Given the description of an element on the screen output the (x, y) to click on. 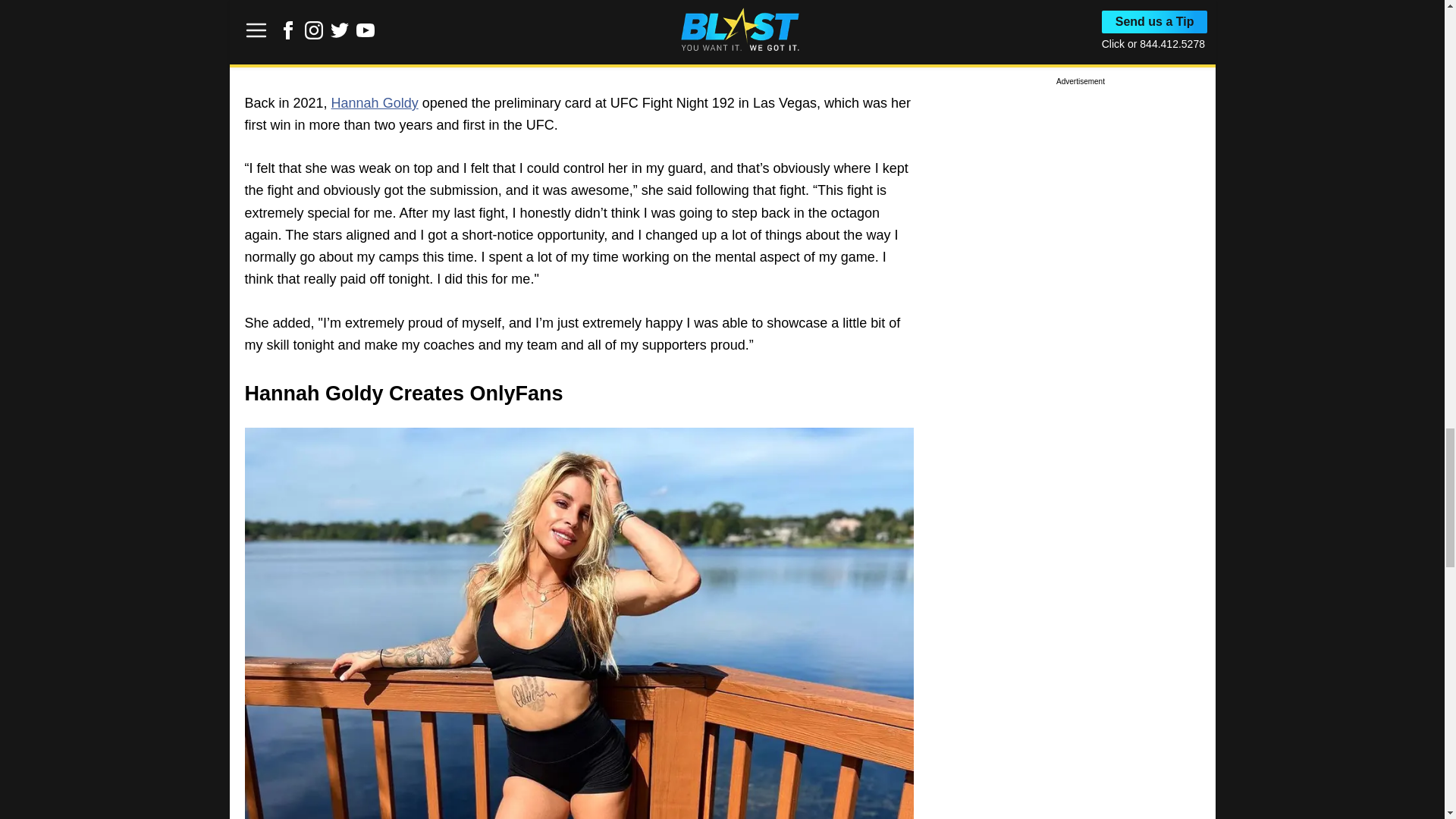
Hannah Goldy (375, 102)
